Given the description of an element on the screen output the (x, y) to click on. 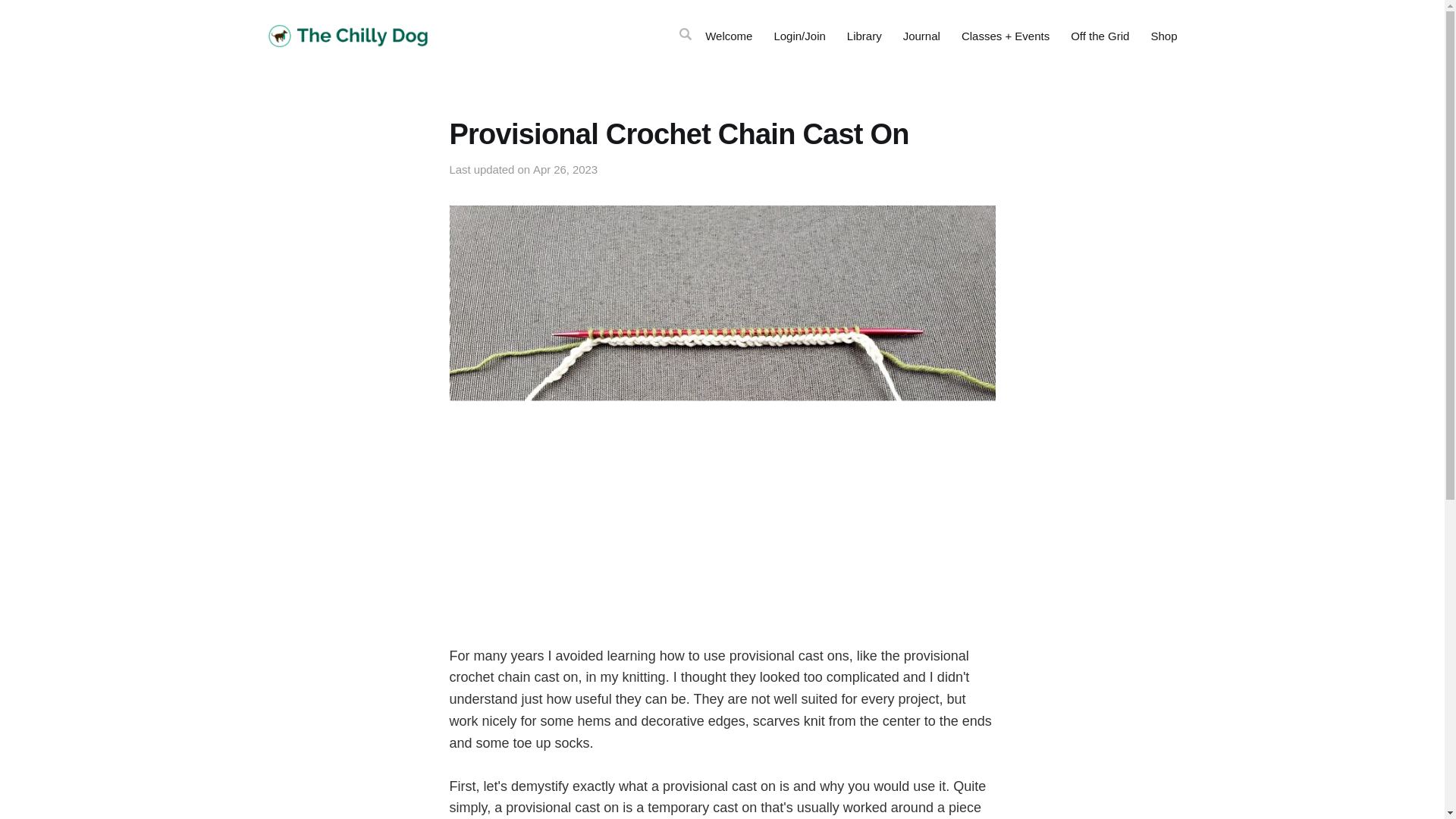
Off the Grid (1099, 35)
Welcome (728, 35)
Journal (921, 35)
Shop (1163, 35)
Library (864, 35)
